Given the description of an element on the screen output the (x, y) to click on. 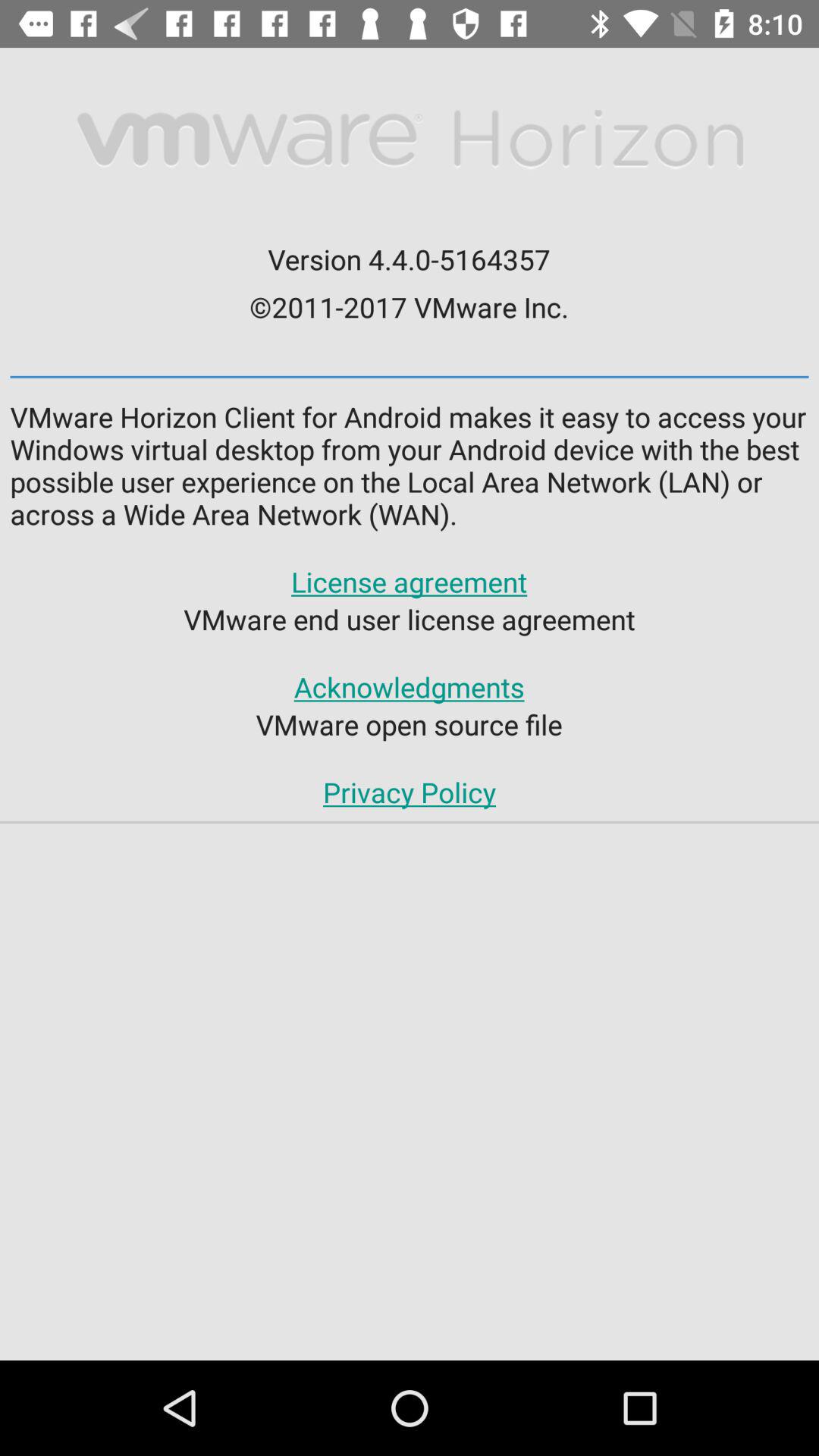
jump until the acknowledgments (409, 686)
